Given the description of an element on the screen output the (x, y) to click on. 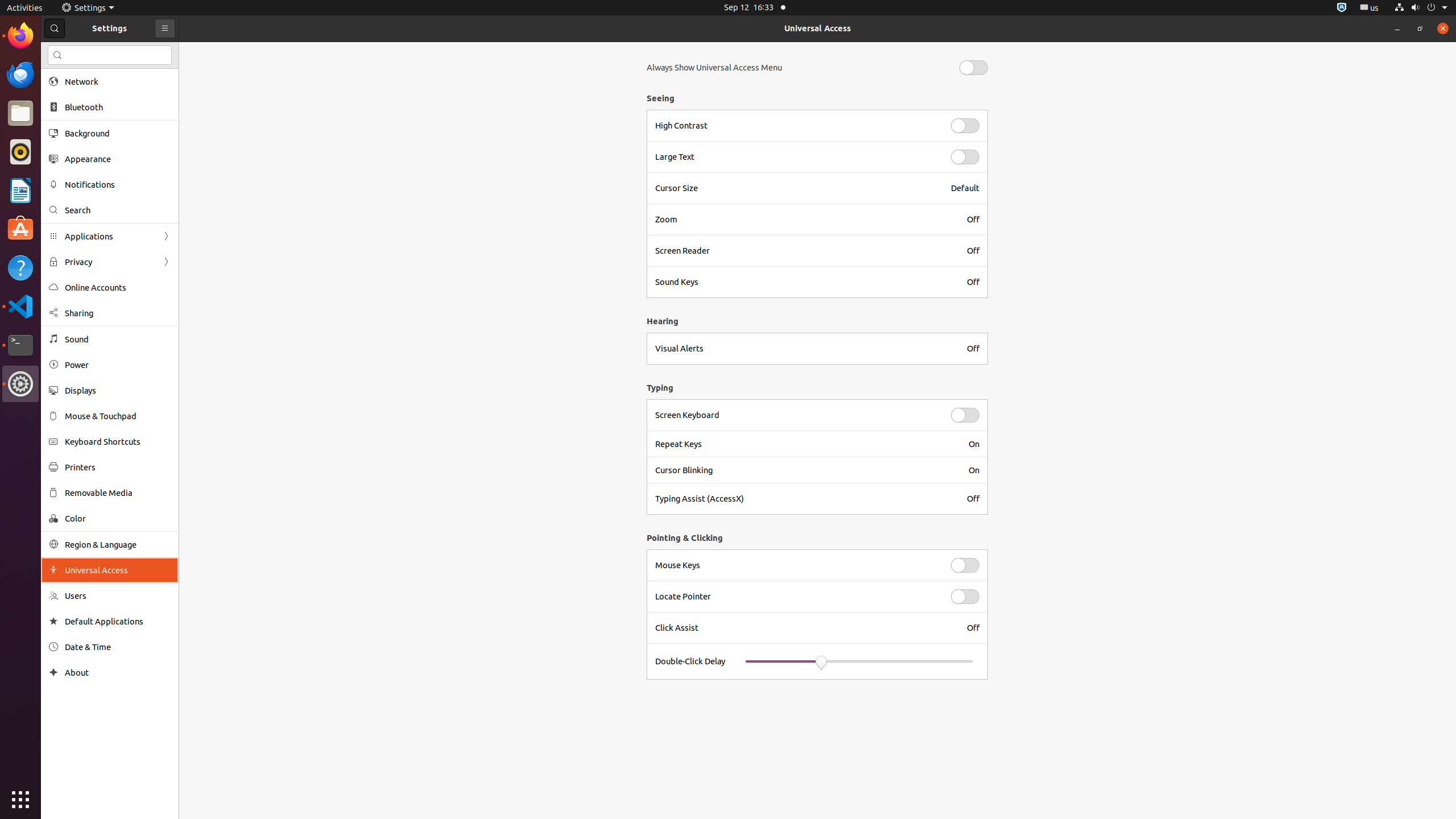
Displays Element type: label (117, 390)
Zoom Element type: label (804, 219)
Removable Media Element type: label (117, 492)
luyi1 Element type: label (75, 50)
